Given the description of an element on the screen output the (x, y) to click on. 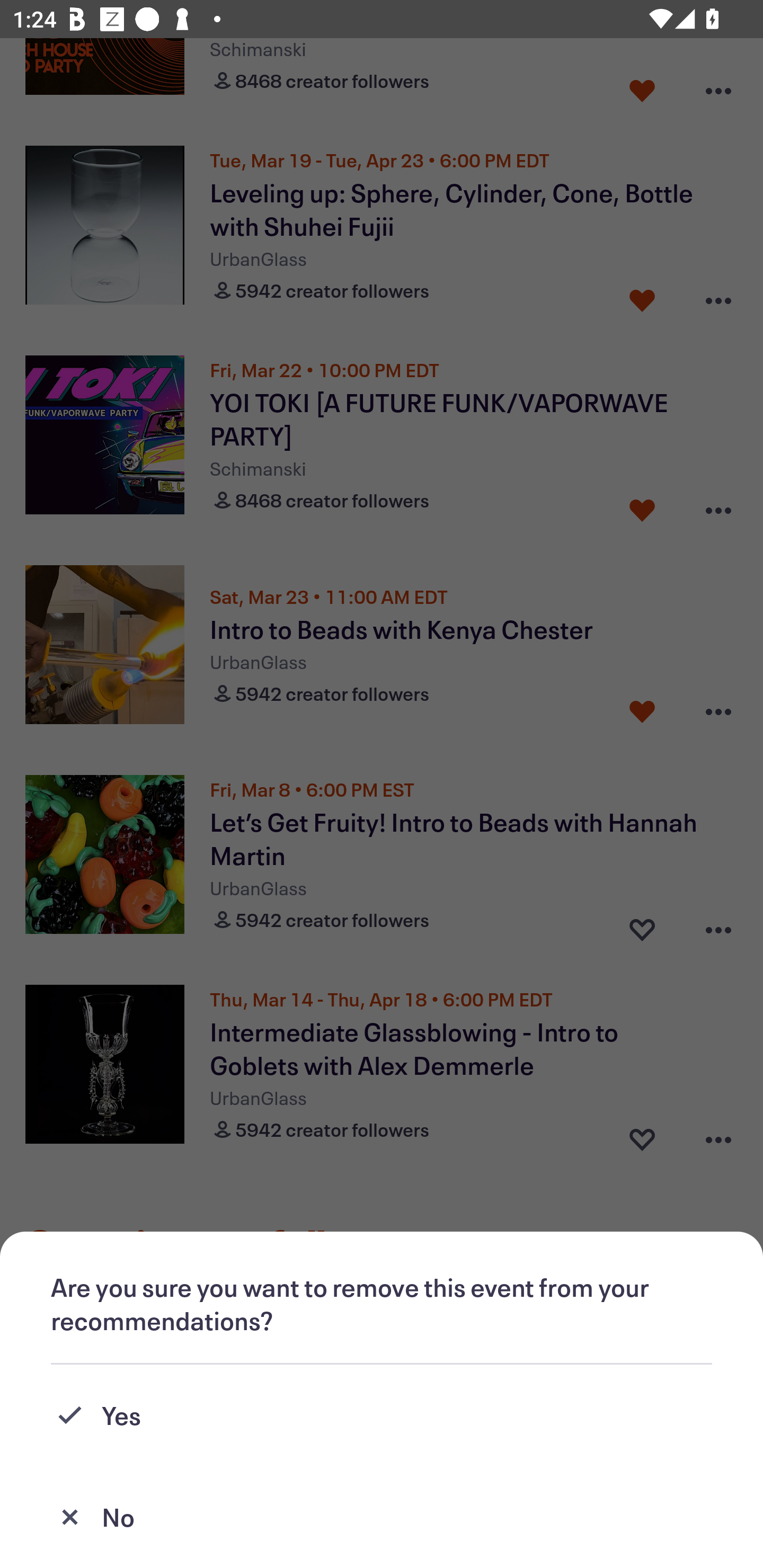
Yes (381, 1415)
No (381, 1517)
